Given the description of an element on the screen output the (x, y) to click on. 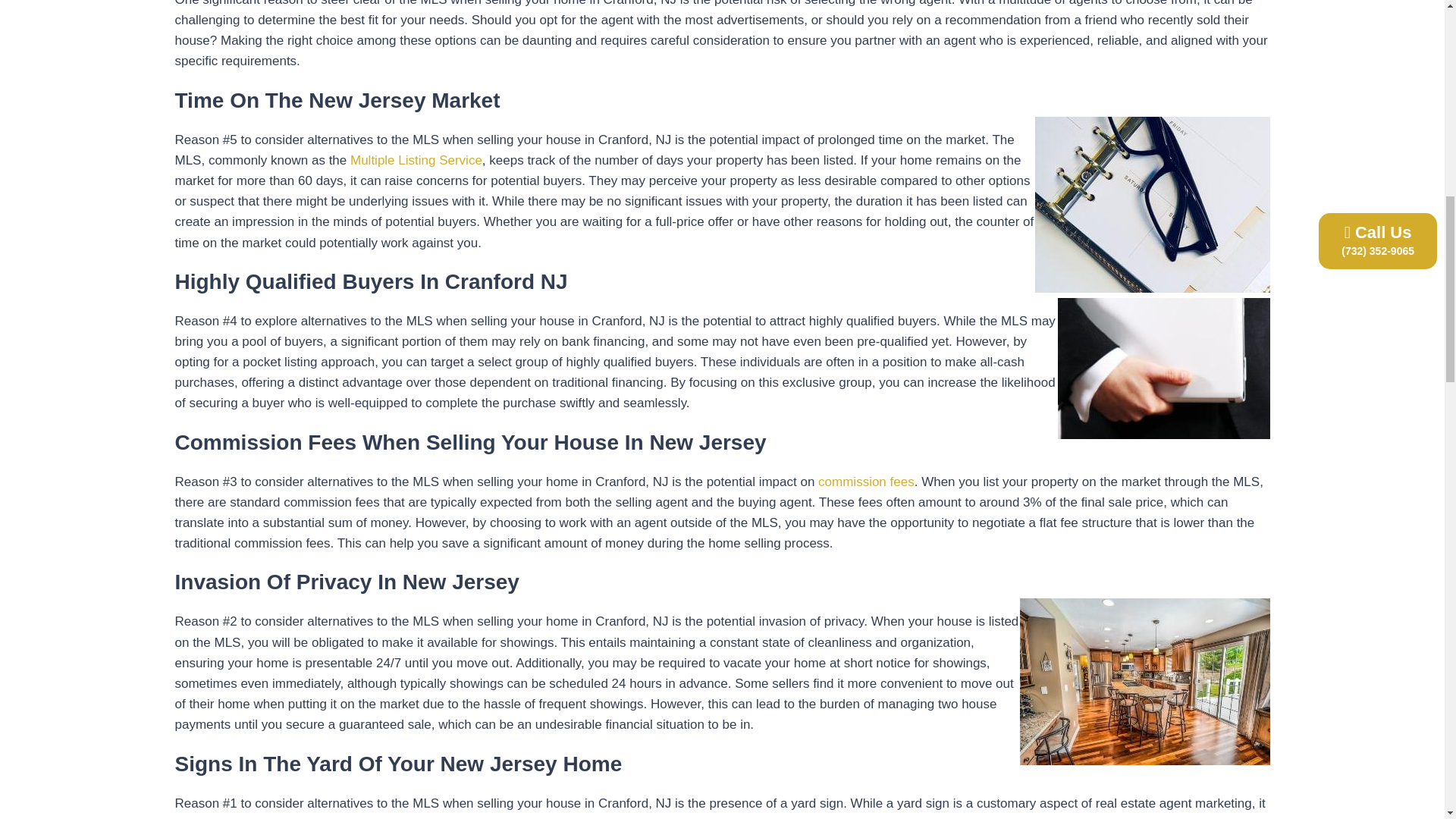
commission fees (866, 481)
Multiple Listing Service (415, 160)
